Given the description of an element on the screen output the (x, y) to click on. 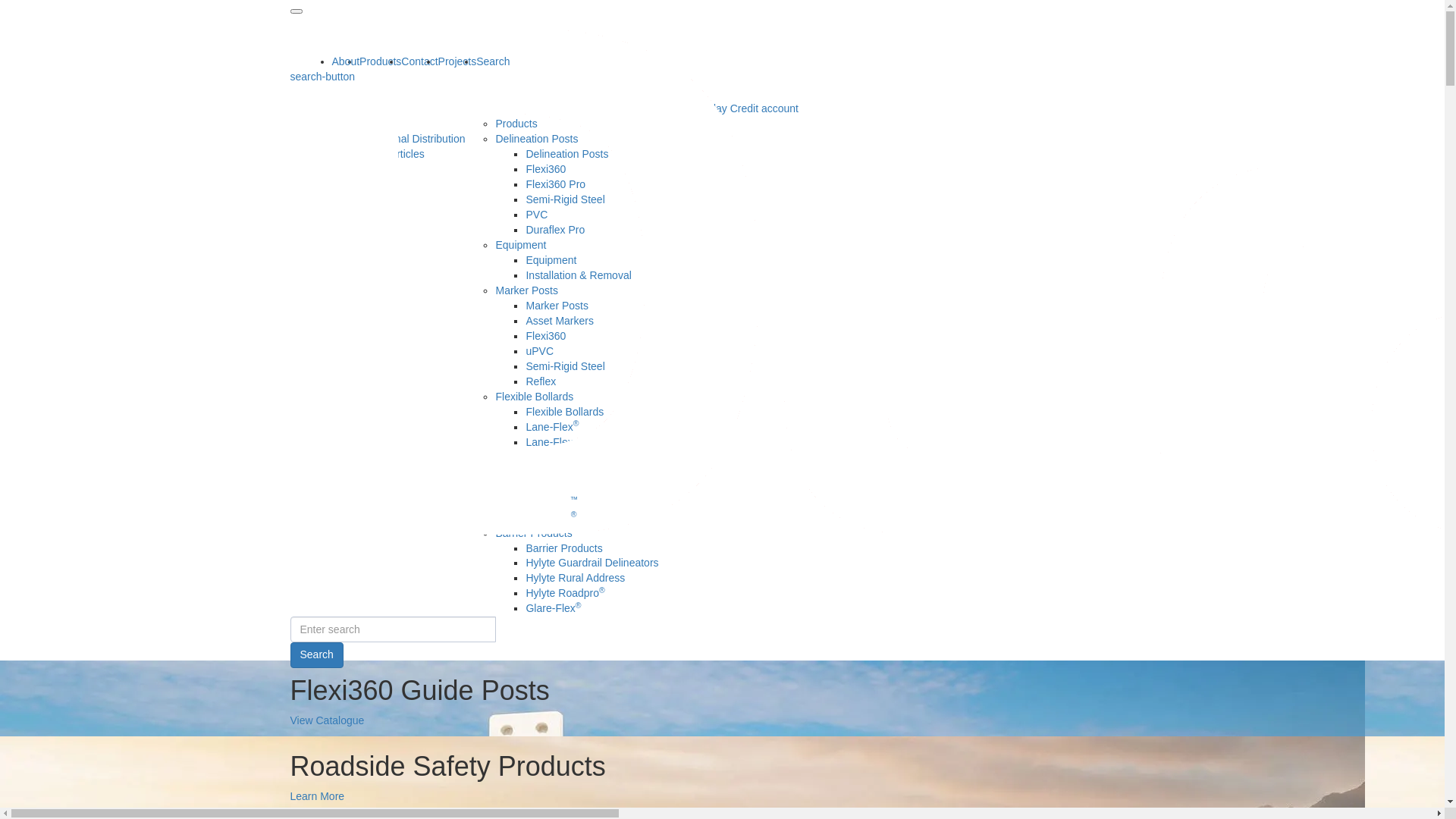
Hylyte Rural Address Element type: text (574, 577)
Products Element type: text (380, 60)
Flexi360 Pro Element type: text (555, 184)
Reflex Element type: text (540, 381)
Duraflex Pro Element type: text (554, 229)
Flexi360 Element type: text (545, 335)
News & Articles Element type: text (386, 153)
About Element type: text (364, 123)
Products Element type: text (485, 108)
Learn More Element type: text (316, 796)
View Product Catalogue Element type: text (582, 457)
Equipment Element type: text (520, 244)
Semi-Rigid Steel Element type: text (564, 199)
Delineation Posts Element type: text (536, 138)
View Catalogue Element type: text (326, 720)
search-button Element type: text (321, 76)
Projects Element type: text (457, 60)
Barrier Products Element type: text (533, 533)
Installation & Removal Element type: text (577, 275)
Impact Recovery Element type: text (565, 487)
About Element type: text (334, 108)
About Element type: text (346, 60)
Hylyte Guardrail Delineators Element type: text (591, 562)
Search Element type: text (315, 655)
Barrier Products Element type: text (563, 547)
PVC Element type: text (536, 214)
Delineation Posts Element type: text (566, 153)
Products Element type: text (515, 123)
Marker Posts Element type: text (556, 305)
Marker Posts Element type: text (526, 290)
Asset Markers Element type: text (559, 320)
Flexible Bollards Element type: text (534, 396)
Search Element type: text (492, 60)
Contact Element type: text (676, 108)
Equipment Element type: text (550, 260)
Flexible Bollards Element type: text (564, 411)
International Distribution Element type: text (407, 138)
uPVC Element type: text (539, 351)
Contact Element type: text (419, 60)
30 day Credit account Element type: text (746, 108)
Lane-Flex-Pro Element type: text (559, 442)
Semi-Rigid Steel Element type: text (564, 366)
Flexi360 Element type: text (545, 169)
Impact Recovery Element type: text (534, 472)
